Given the description of an element on the screen output the (x, y) to click on. 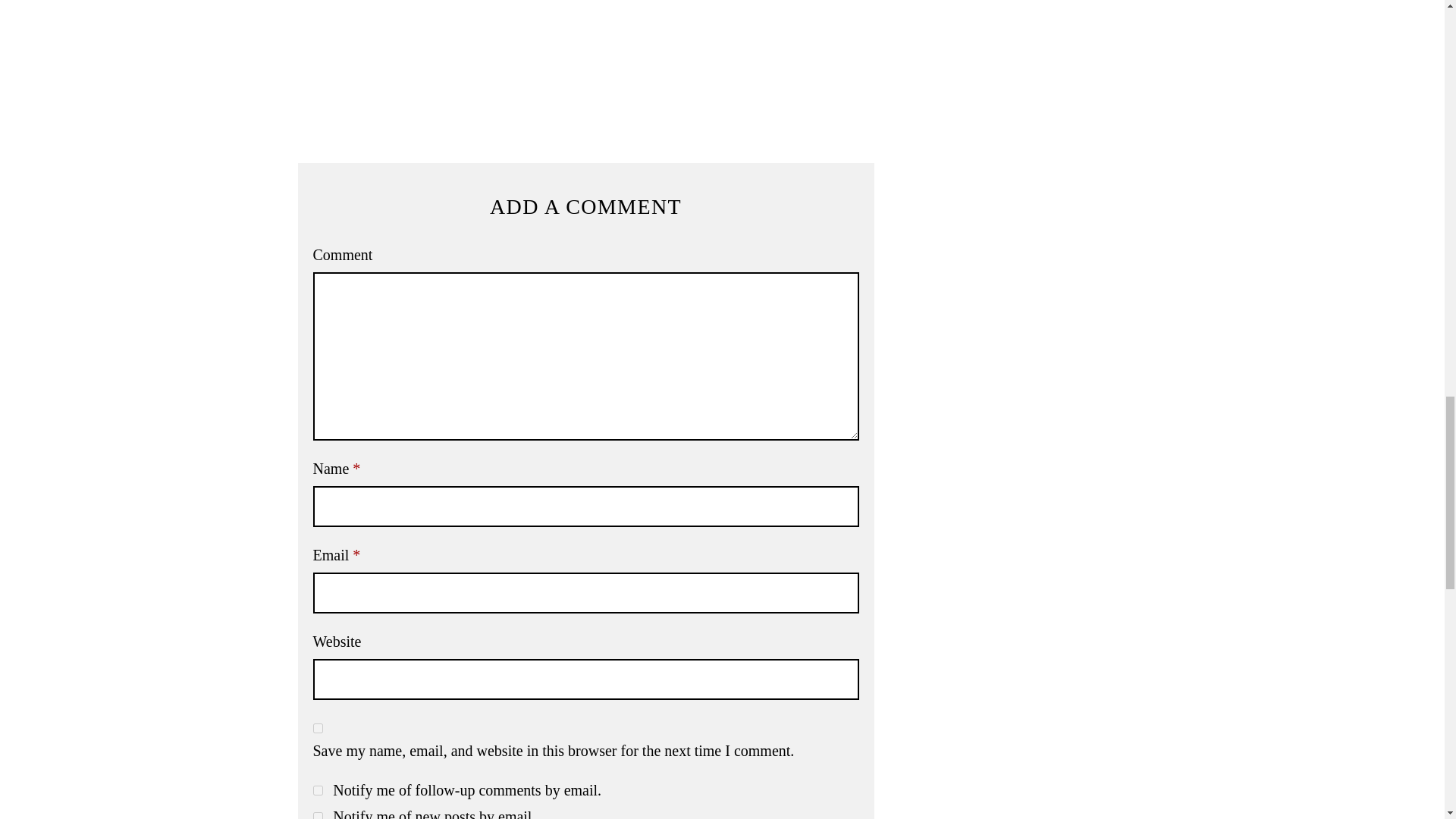
subscribe (317, 815)
yes (317, 728)
subscribe (317, 790)
